Given the description of an element on the screen output the (x, y) to click on. 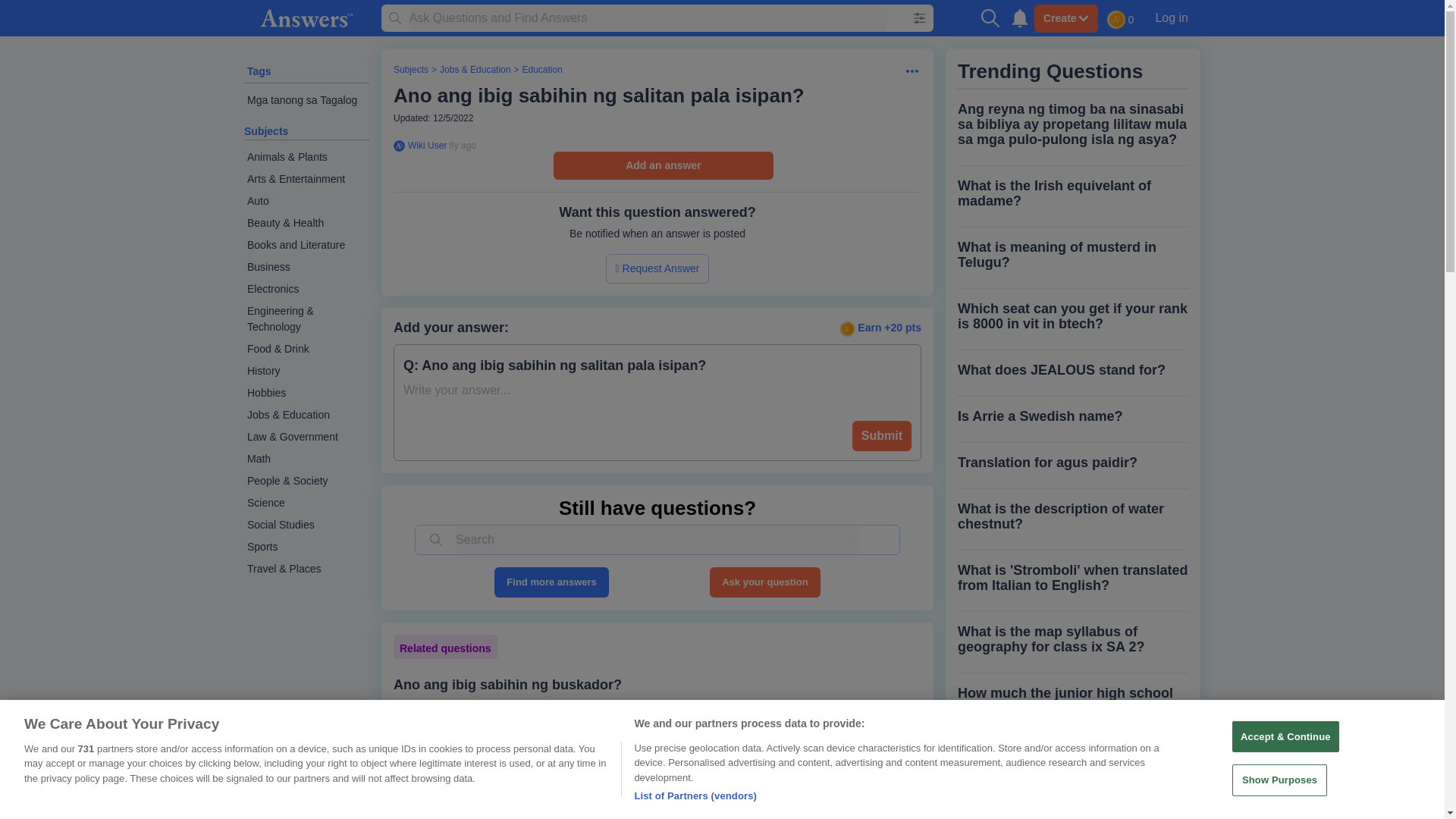
Sports (306, 546)
What is the Irish equivelant of madame? (1073, 192)
Social Studies (306, 525)
Business (306, 267)
Log in (1170, 17)
Add an answer (663, 165)
Books and Literature (306, 245)
Education (541, 69)
History (306, 371)
2016-06-22 12:30:01 (462, 145)
Tags (258, 70)
Electronics (306, 289)
Subjects (266, 131)
Subjects (410, 69)
